Given the description of an element on the screen output the (x, y) to click on. 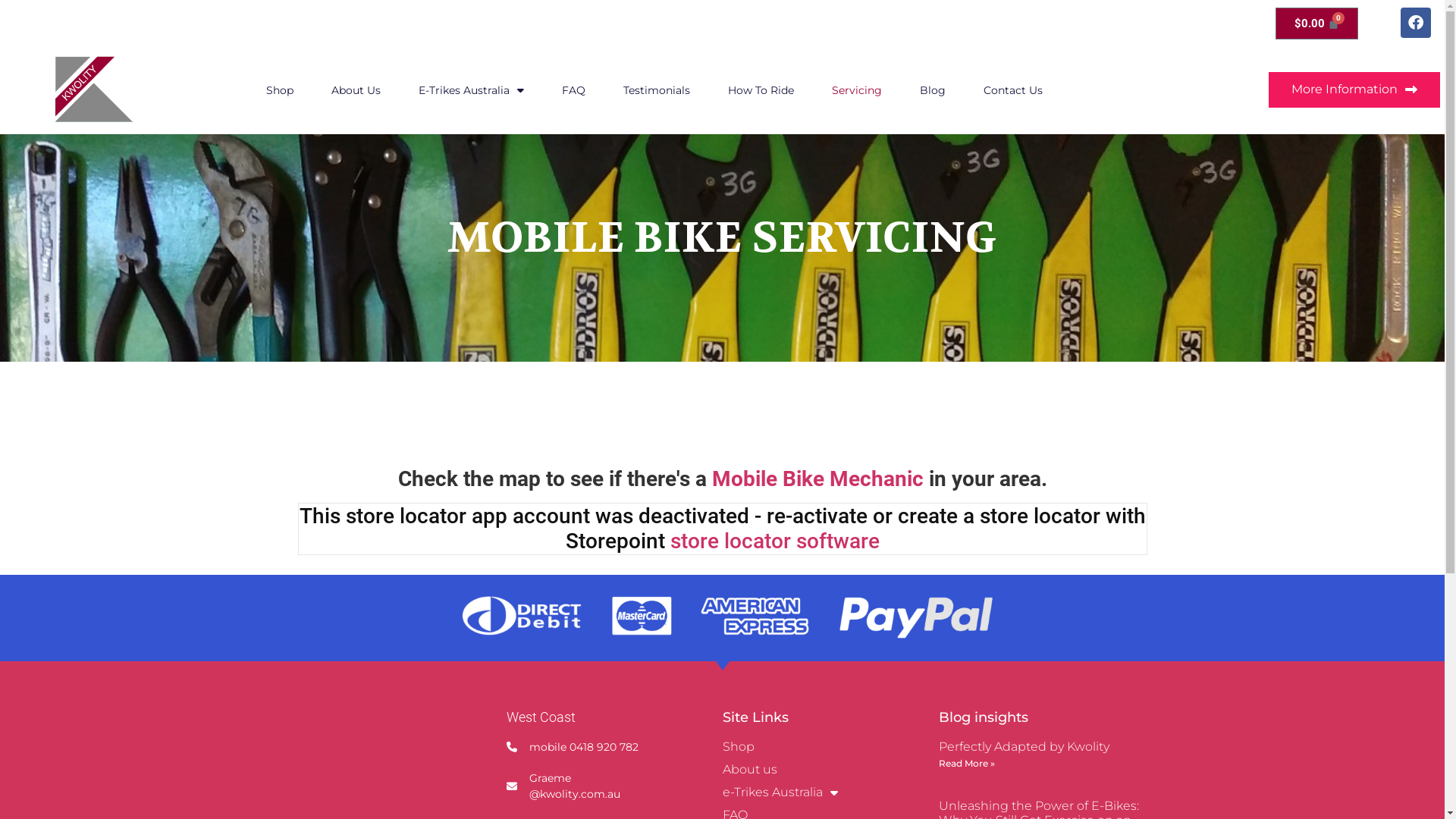
Servicing Element type: text (856, 89)
Testimonials Element type: text (656, 89)
Perfectly Adapted by Kwolity Element type: text (1023, 746)
FAQ Element type: text (573, 89)
e-Trikes Australia Element type: text (829, 792)
mobile 0418 920 782 Element type: text (584, 747)
About us Element type: text (829, 769)
Shop Element type: text (279, 89)
Mobile Bike Mechanic Element type: text (816, 478)
store locator software Element type: text (774, 540)
Blog Element type: text (932, 89)
Contact Us Element type: text (1012, 89)
E-Trikes Australia Element type: text (471, 89)
Shop Element type: text (829, 746)
$0.00
0 Element type: text (1316, 23)
How To Ride Element type: text (760, 89)
About Us Element type: text (355, 89)
More Information Element type: text (1354, 89)
